Given the description of an element on the screen output the (x, y) to click on. 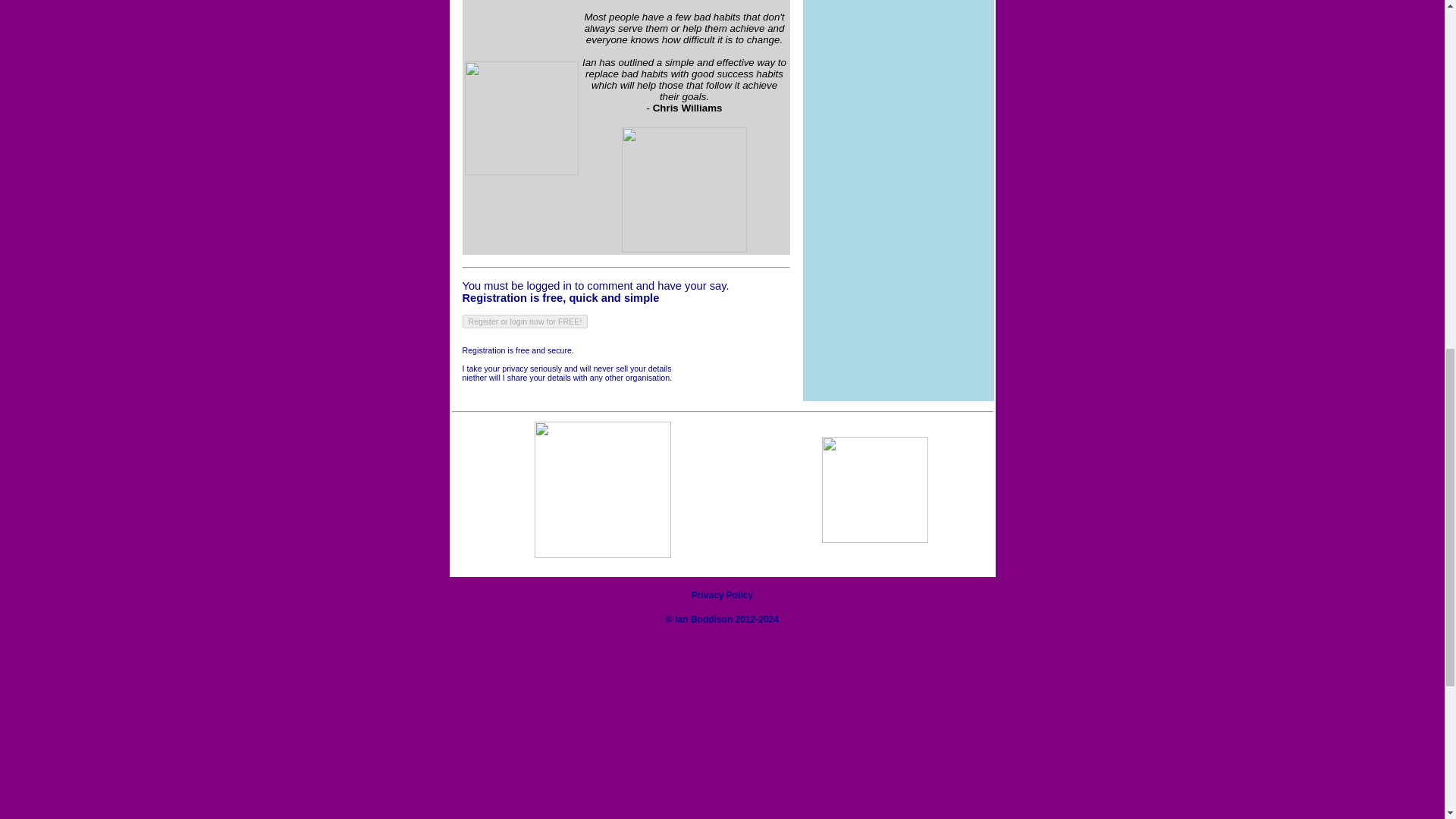
Privacy Policy (721, 594)
Ian Boddison (703, 619)
Register or login now for FREE! (525, 321)
